Given the description of an element on the screen output the (x, y) to click on. 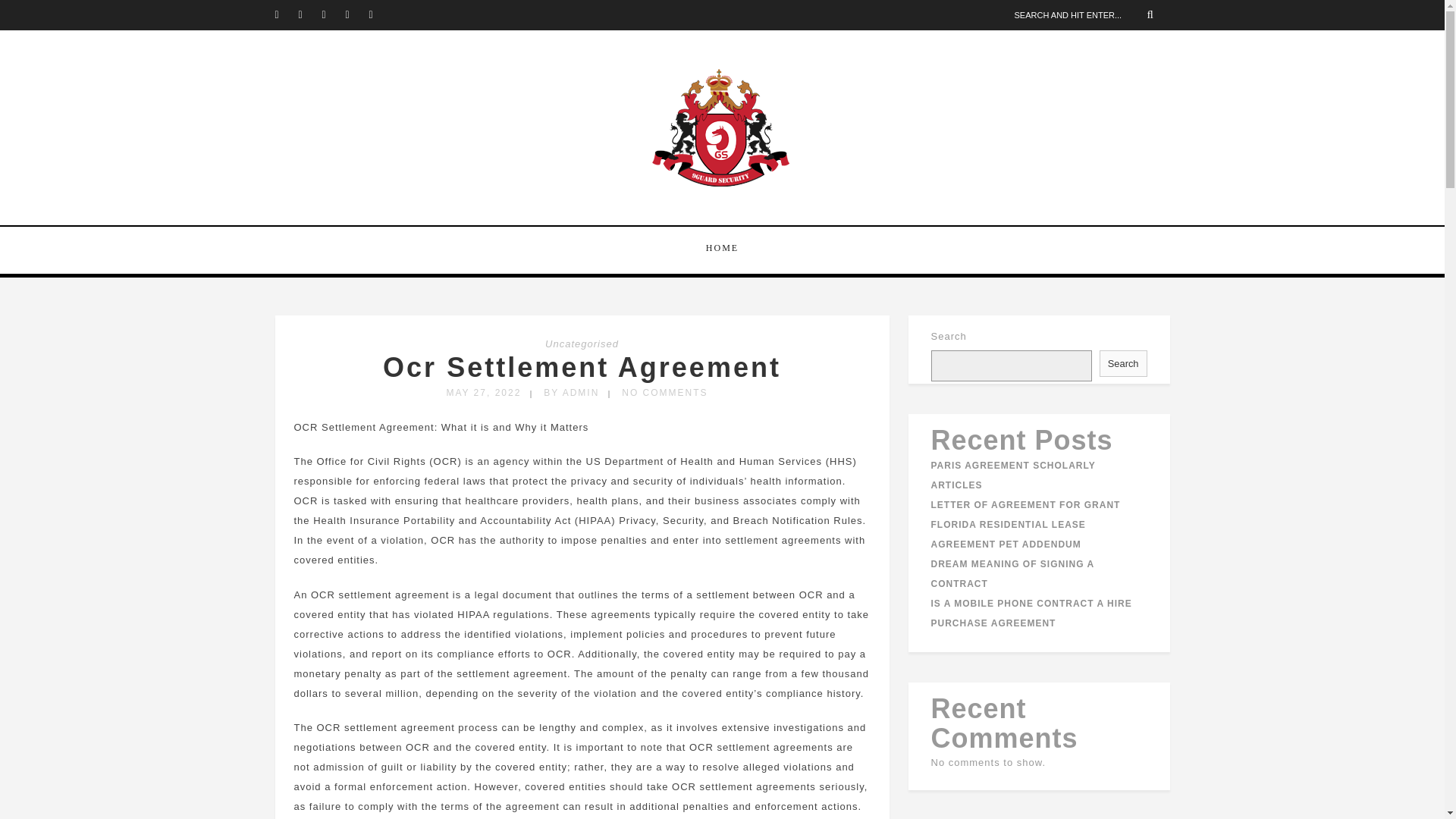
Facebook (309, 15)
MAY 27, 2022 (483, 392)
Pinterest (379, 15)
HOME (722, 247)
NO COMMENTS (664, 392)
Twitter (286, 15)
Instagram (332, 15)
Ocr Settlement Agreement (581, 367)
Permanent Link to Ocr Settlement Agreement (581, 367)
LinkedIn (357, 15)
BY ADMIN (570, 392)
Search and hit enter... (1088, 14)
